Given the description of an element on the screen output the (x, y) to click on. 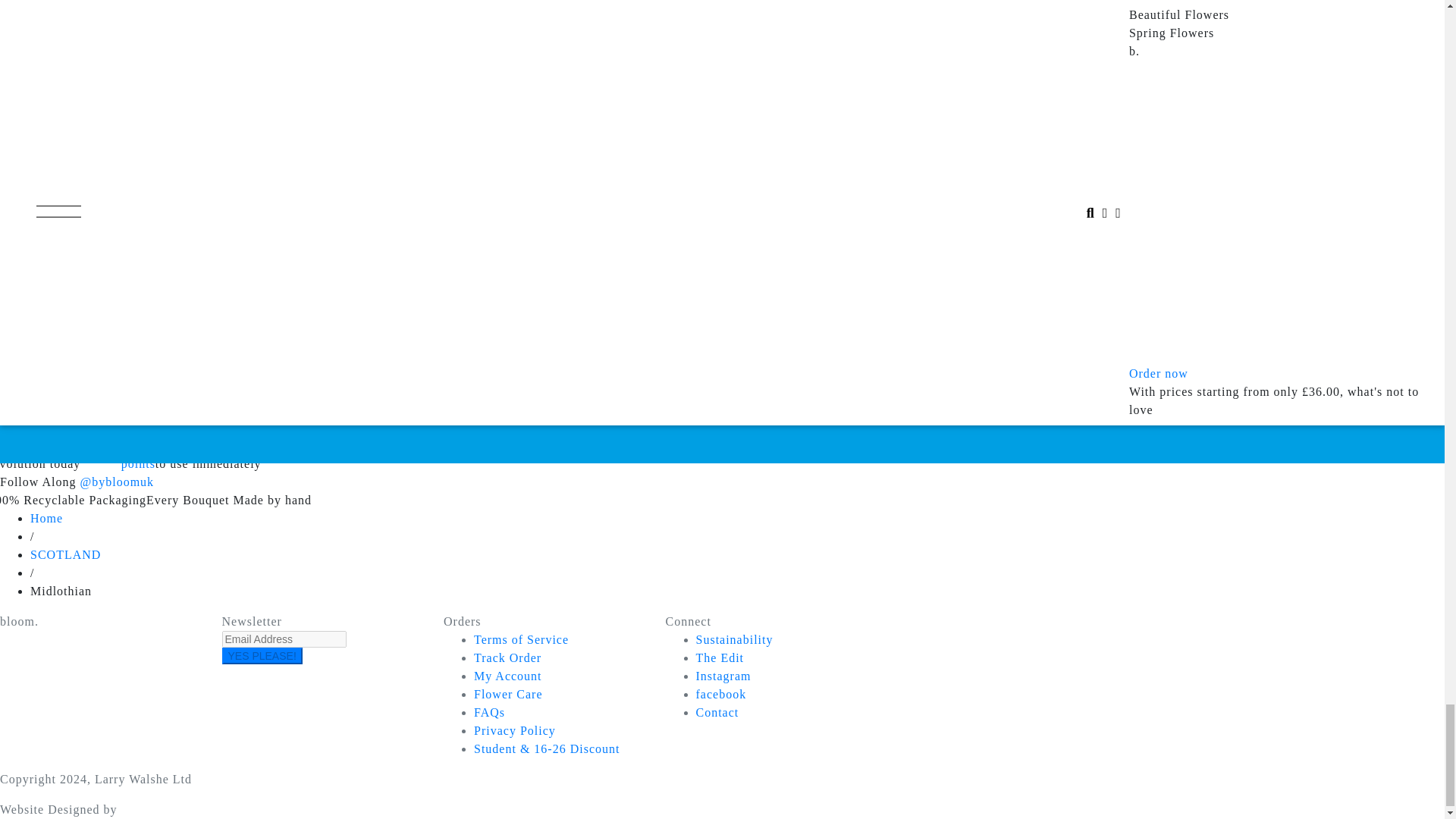
YES PLEASE! (261, 655)
